Given the description of an element on the screen output the (x, y) to click on. 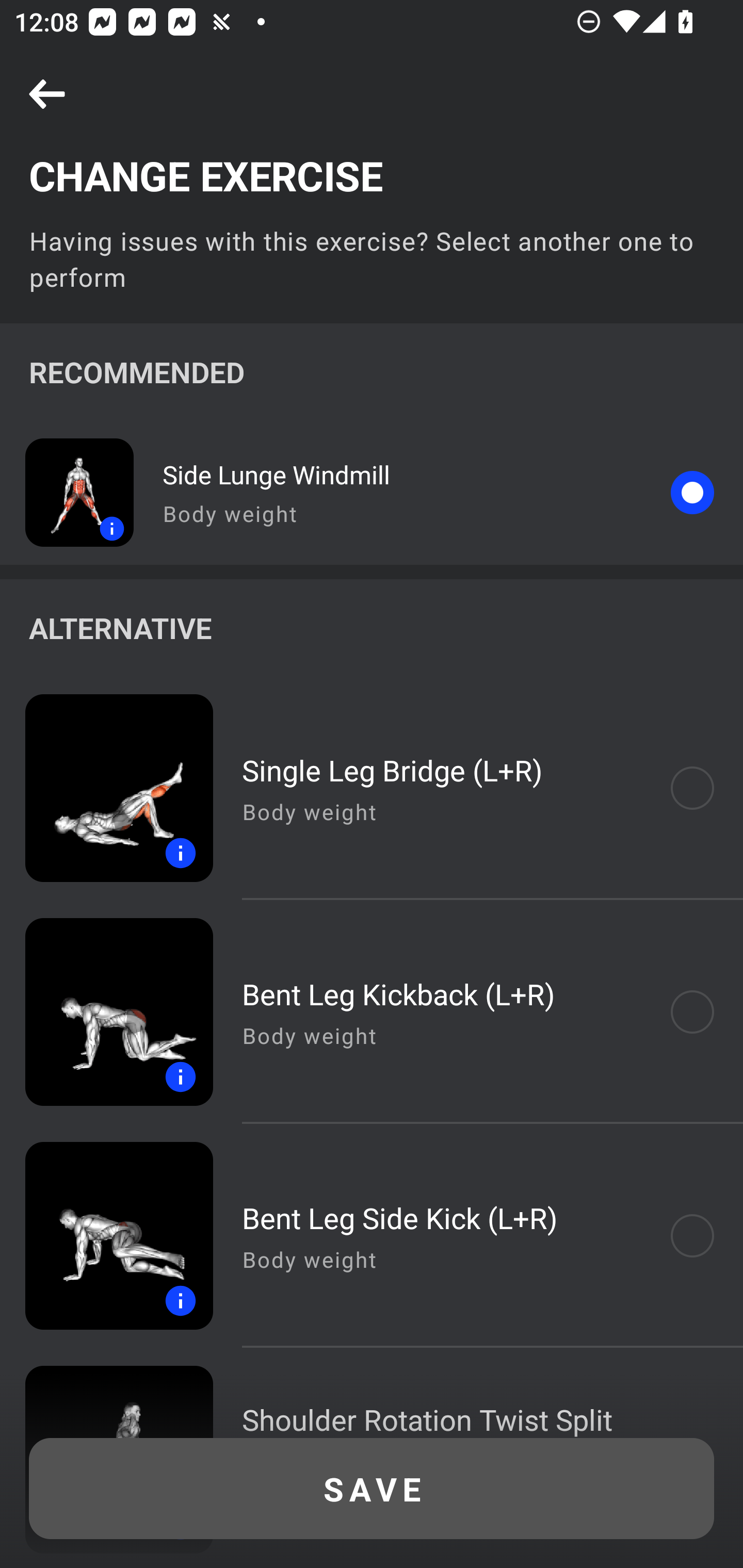
Navigation icon (46, 94)
details Side Lunge Windmill Body weight (371, 492)
details (66, 492)
details Single Leg Bridge (L+R) Body weight (371, 787)
details (106, 787)
details Bent Leg Kickback (L+R) Body weight (371, 1012)
details (106, 1012)
details Bent Leg Side Kick (L+R) Body weight (371, 1236)
details (106, 1236)
SAVE (371, 1488)
